Given the description of an element on the screen output the (x, y) to click on. 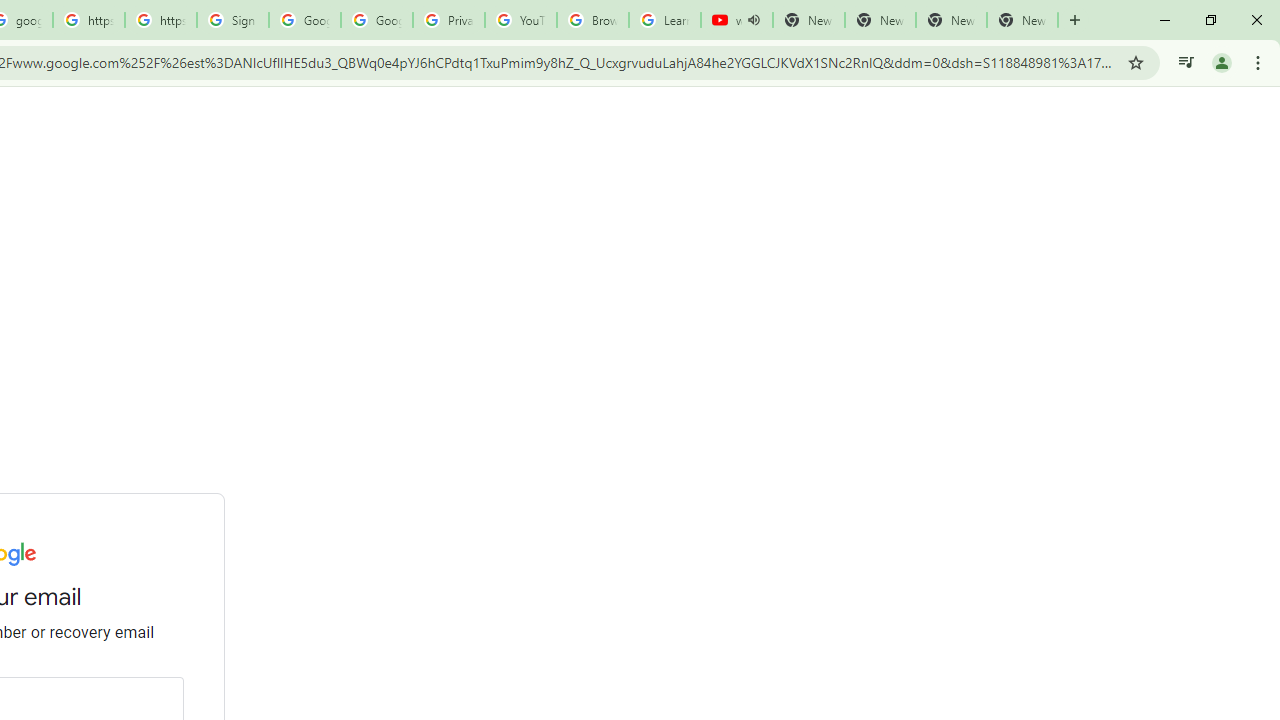
https://scholar.google.com/ (161, 20)
New Tab (1022, 20)
Mute tab (753, 20)
YouTube (520, 20)
https://scholar.google.com/ (88, 20)
Browse Chrome as a guest - Computer - Google Chrome Help (592, 20)
Sign in - Google Accounts (232, 20)
